Given the description of an element on the screen output the (x, y) to click on. 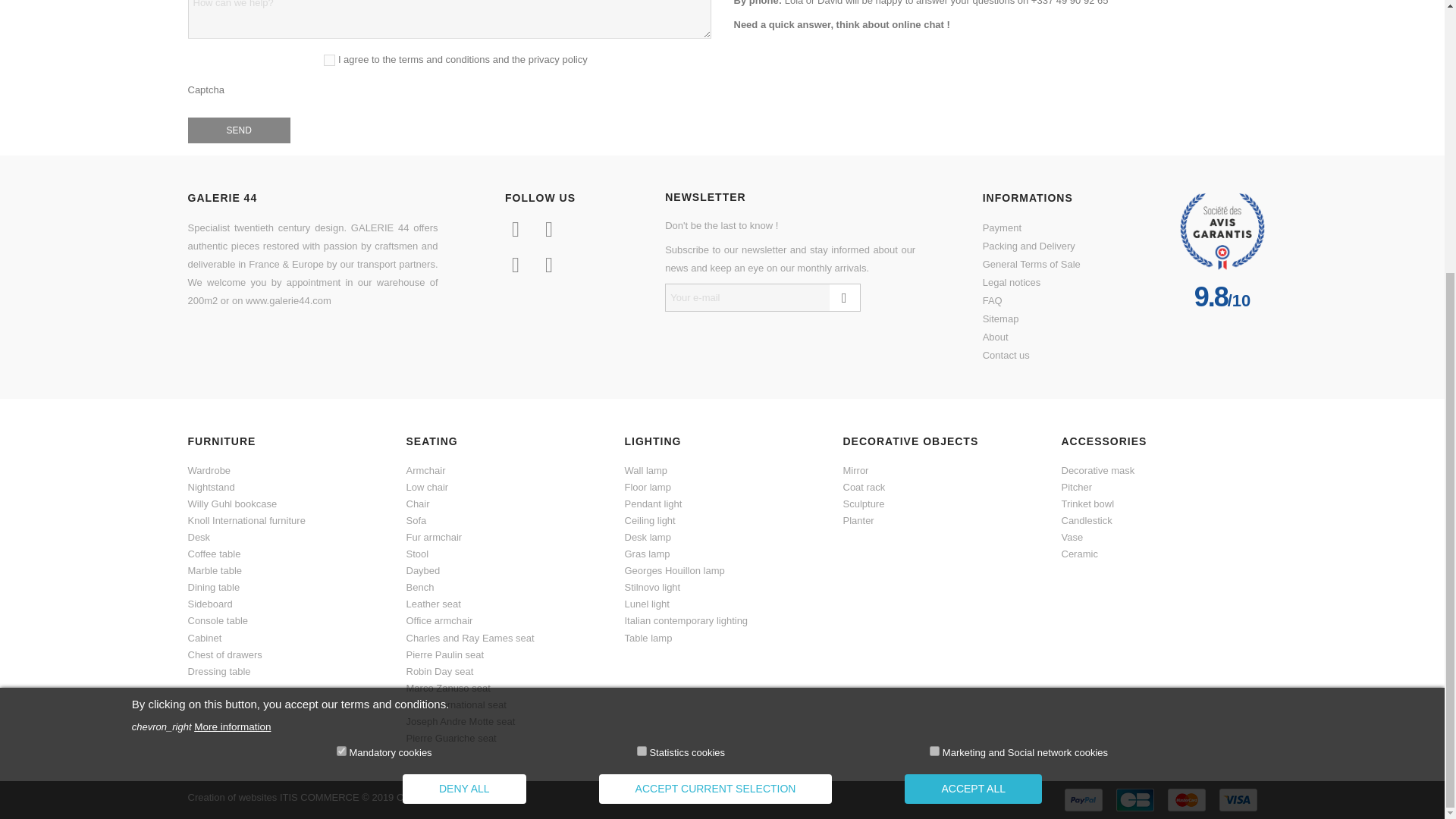
on (641, 349)
Send (238, 130)
on (341, 349)
on (934, 349)
